Given the description of an element on the screen output the (x, y) to click on. 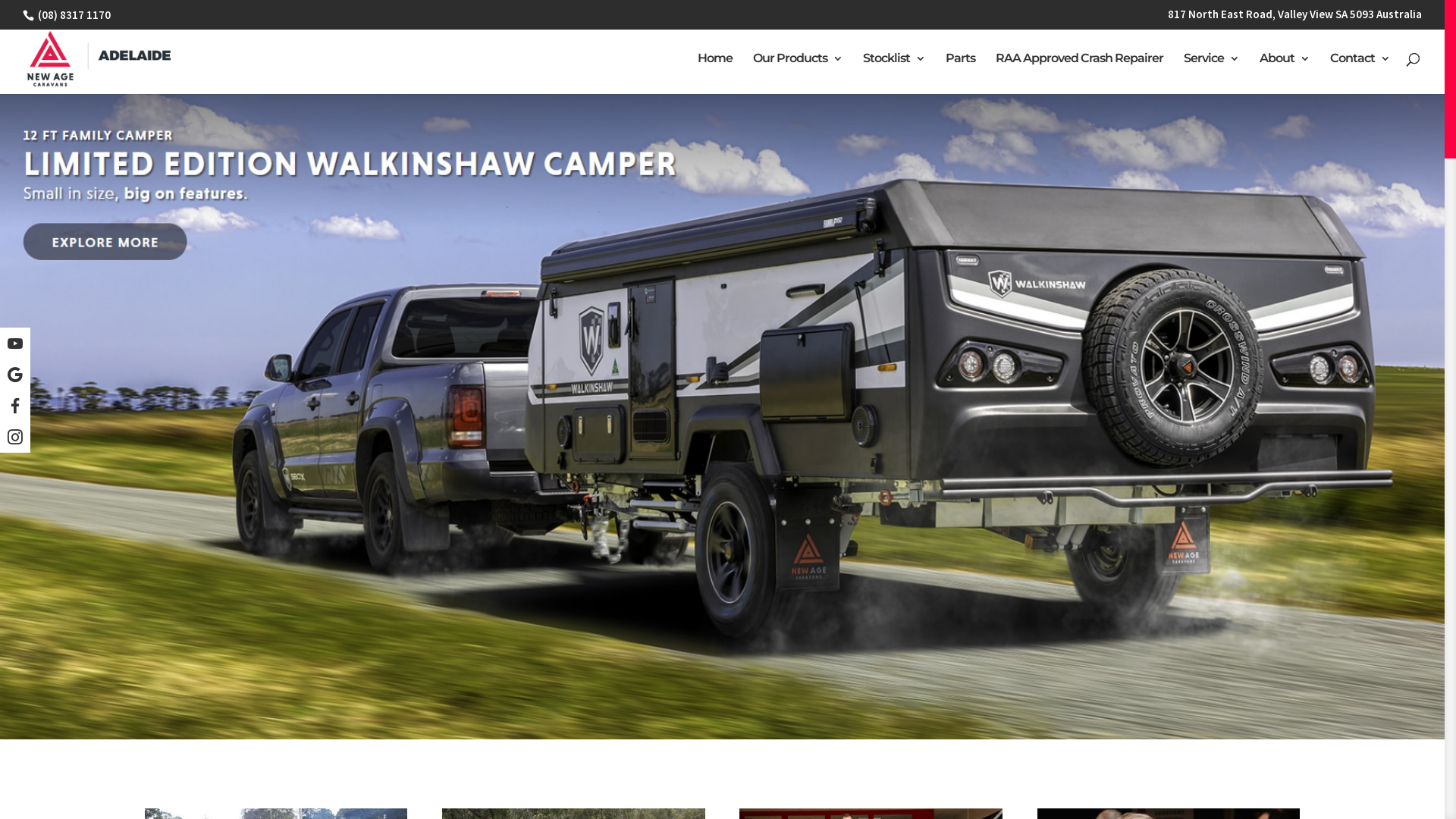
Home Element type: text (714, 73)
Contact Element type: text (1360, 73)
Stocklist Element type: text (893, 73)
817 North East Road, Valley View SA 5093 Australia Element type: text (1294, 18)
(08) 8317 1170 Element type: text (72, 14)
Service Element type: text (1211, 73)
Our Products Element type: text (797, 73)
About Element type: text (1284, 73)
Parts Element type: text (960, 73)
RAA Approved Crash Repairer Element type: text (1079, 73)
